Given the description of an element on the screen output the (x, y) to click on. 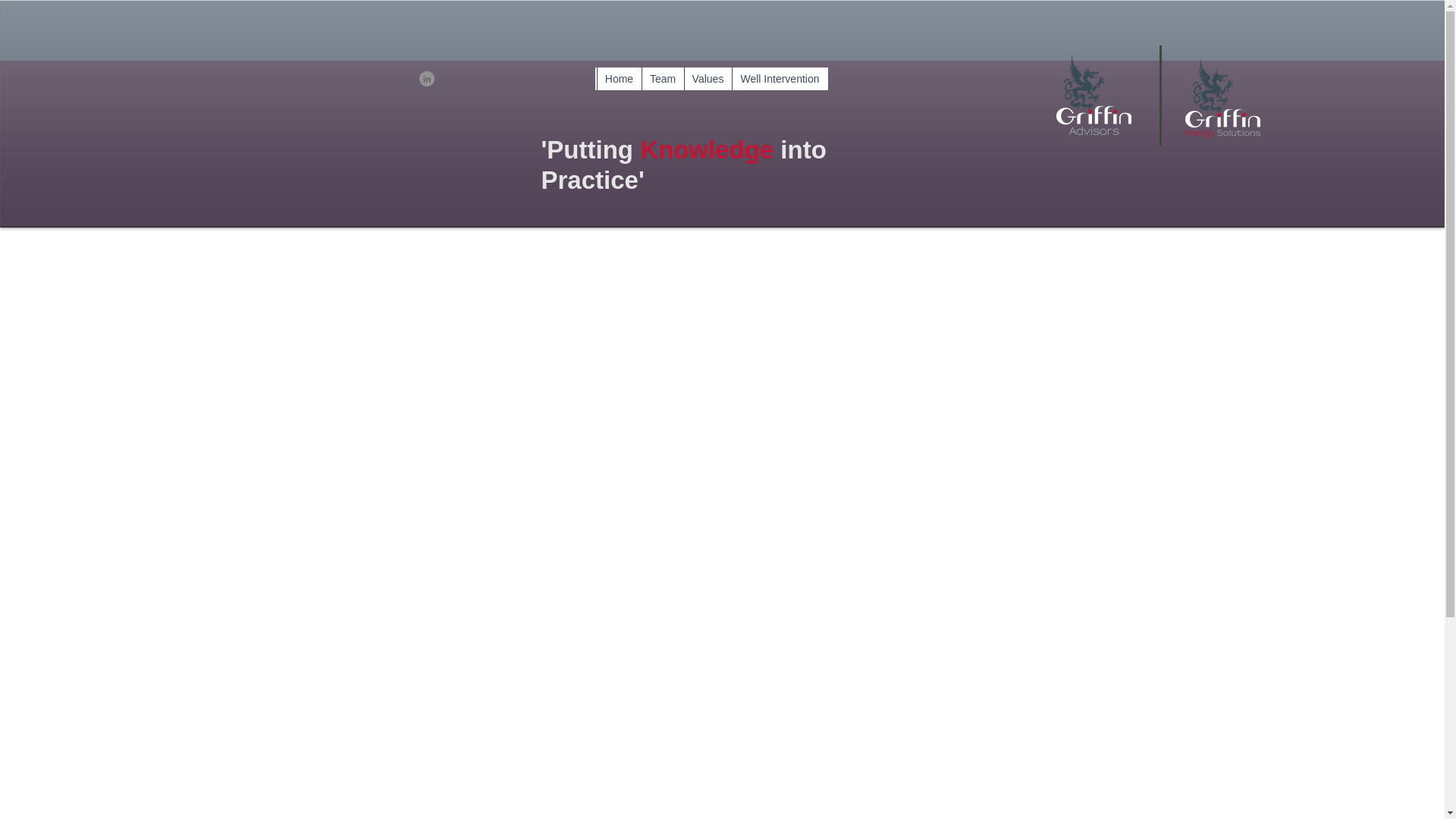
Well Intervention (778, 78)
Values (708, 78)
Team (663, 78)
Home (617, 78)
